Given the description of an element on the screen output the (x, y) to click on. 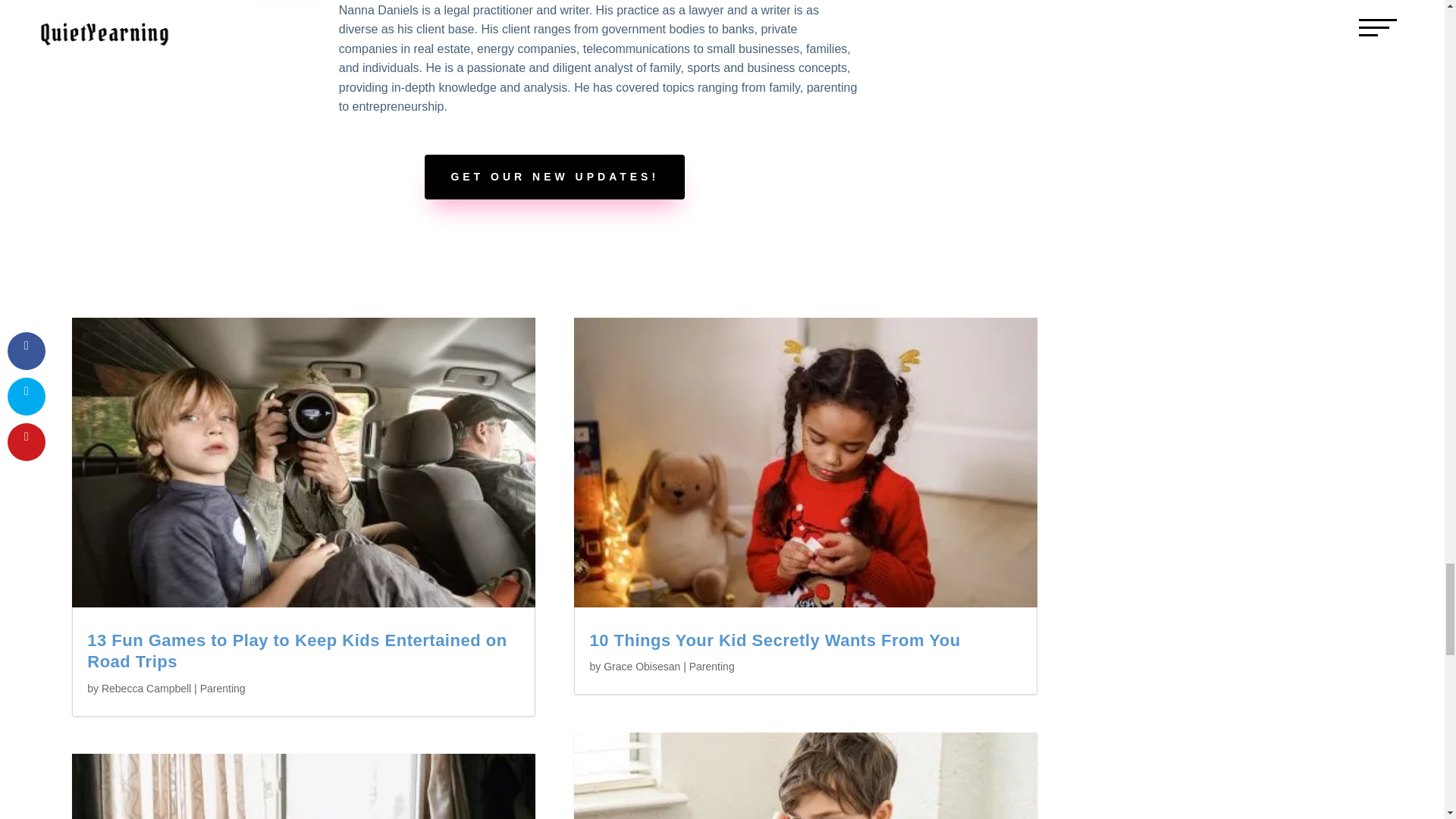
13 Fun Games to Play to Keep Kids Entertained on Road Trips (296, 650)
Posts by Rebecca Campbell (145, 688)
Rebecca Campbell (145, 688)
Posts by Grace Obisesan (641, 666)
Parenting (223, 688)
10 Things Your Kid Secretly Wants From You (774, 640)
Grace Obisesan (641, 666)
GET OUR NEW UPDATES! (554, 176)
